Given the description of an element on the screen output the (x, y) to click on. 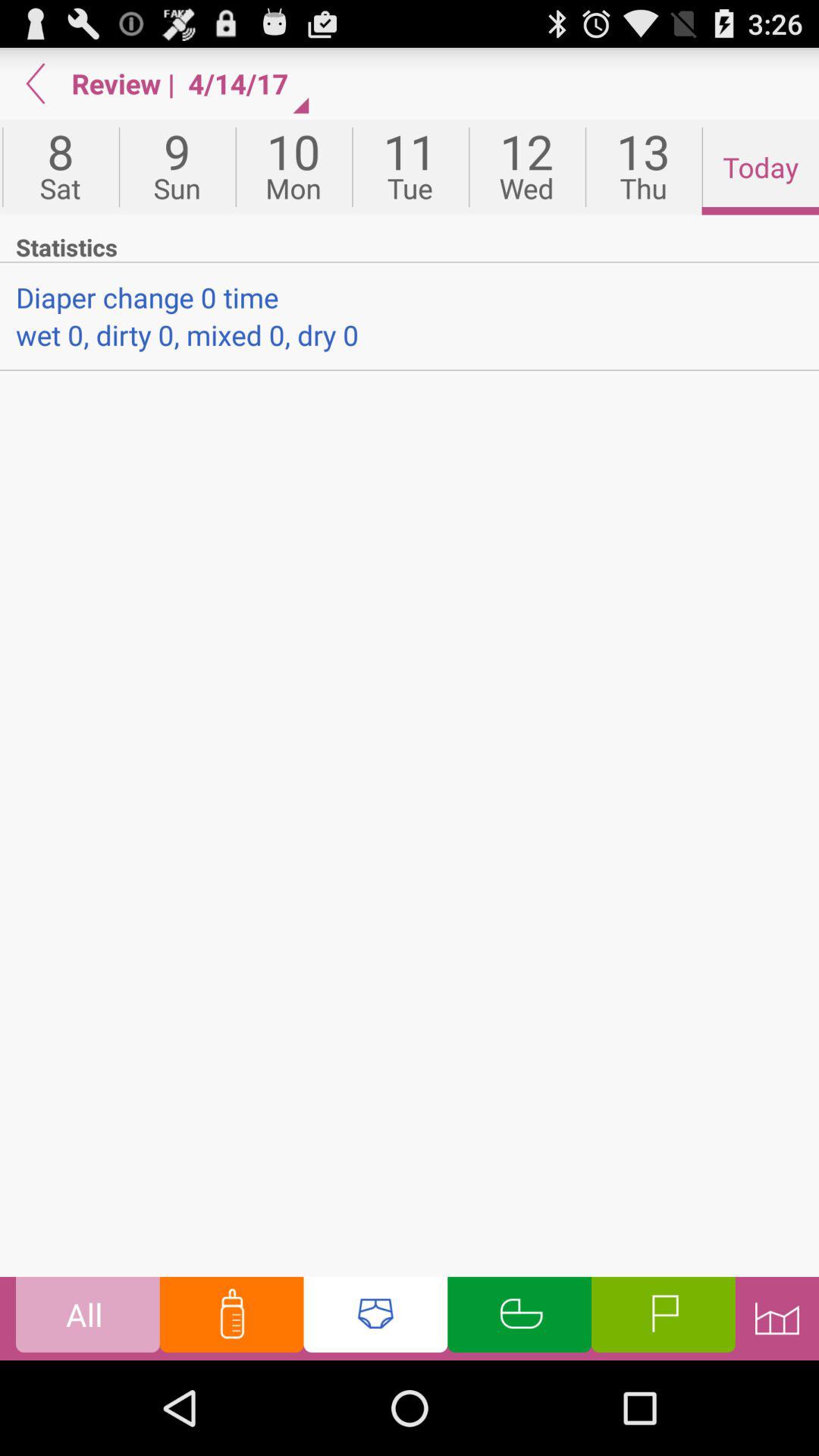
select item to the right of the 10 icon (410, 166)
